Given the description of an element on the screen output the (x, y) to click on. 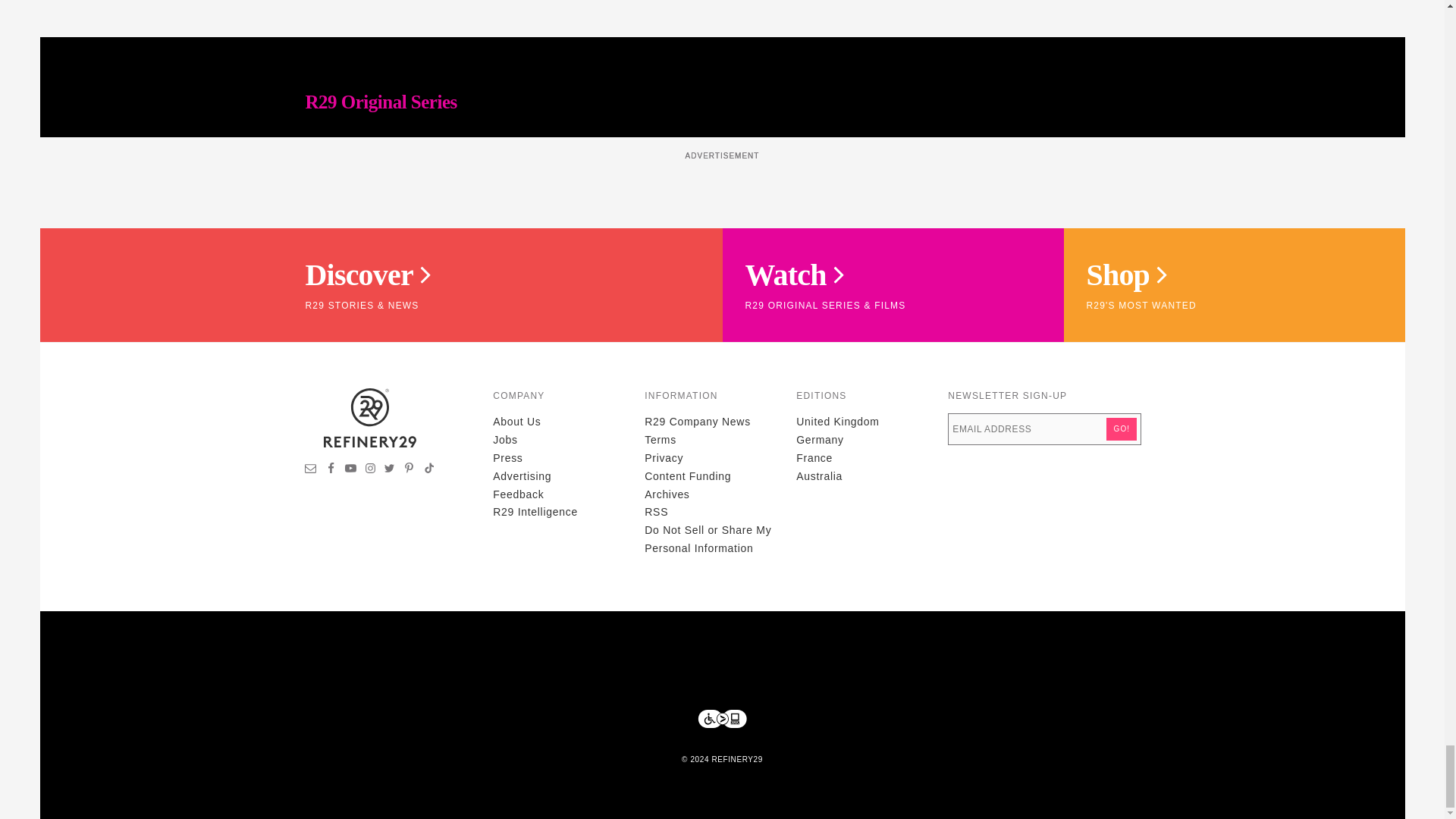
Visit Refinery29 on TikTok (428, 469)
Visit Refinery29 on YouTube (350, 469)
Sign up for newsletters (310, 469)
